Given the description of an element on the screen output the (x, y) to click on. 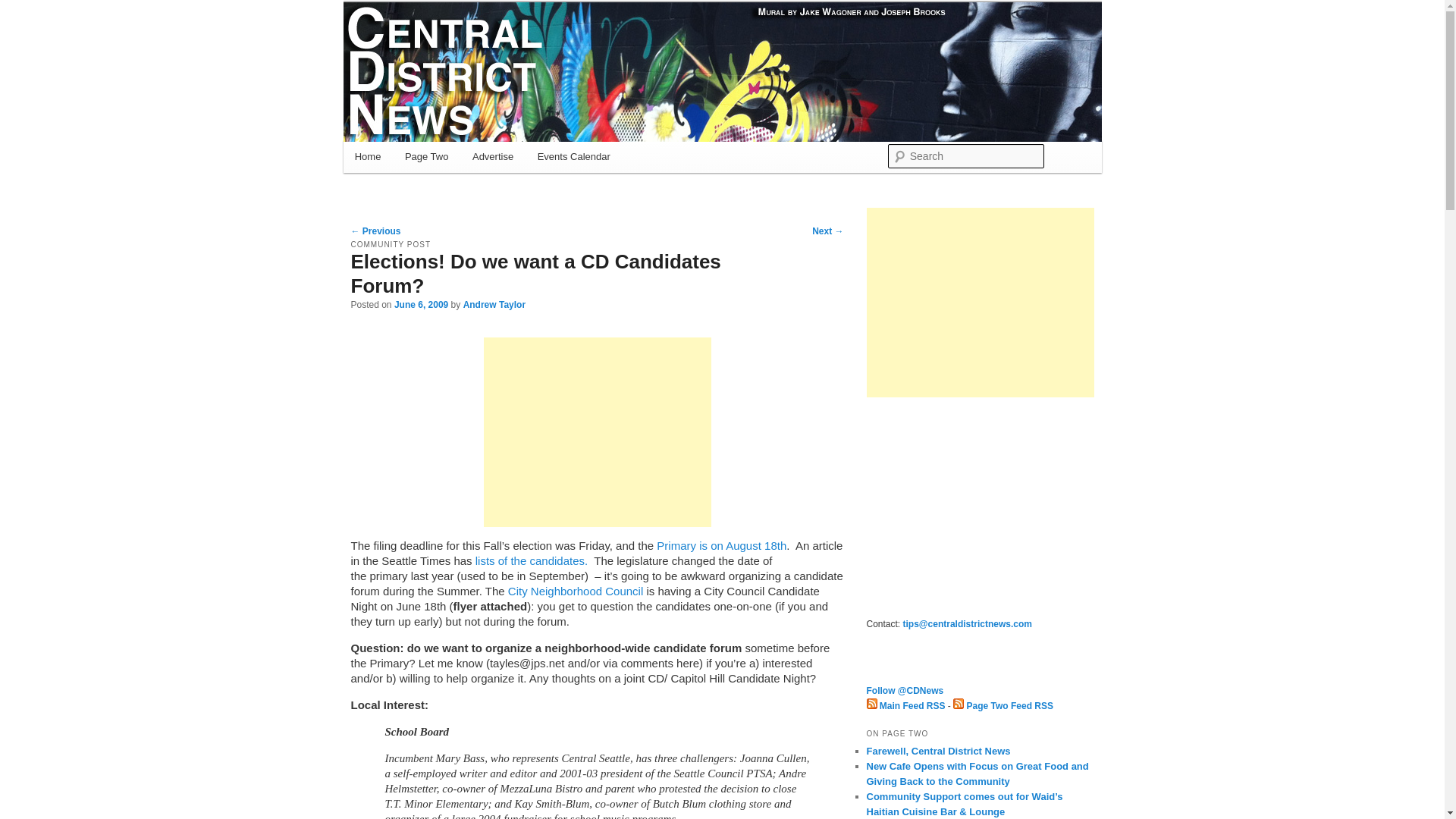
View all posts by Andrew Taylor (494, 304)
Farewell, Central District News (938, 750)
Skip to secondary content (429, 159)
Andrew Taylor (494, 304)
Skip to primary content (422, 159)
10:00 am (421, 304)
Advertisement (979, 505)
Advertisement (597, 432)
Primary is on August 18th (721, 545)
Page Two (426, 156)
Search (24, 8)
June 6, 2009 (421, 304)
Events Calendar (574, 156)
Central District News (464, 57)
Skip to primary content (422, 159)
